Given the description of an element on the screen output the (x, y) to click on. 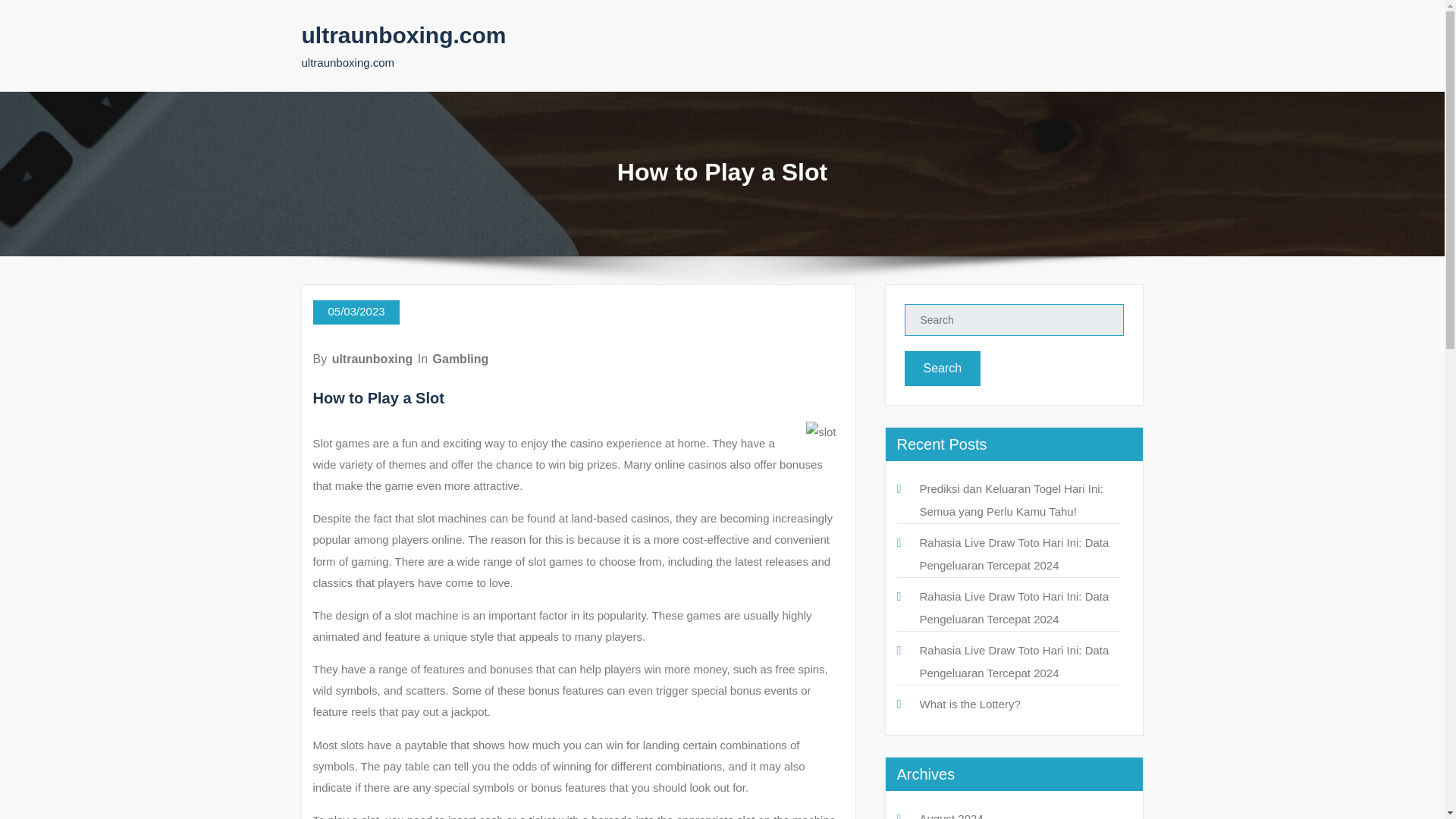
ultraunboxing (372, 358)
August 2024 (950, 815)
ultraunboxing.com (403, 34)
What is the Lottery? (969, 703)
Gambling (460, 358)
Search (941, 368)
